Given the description of an element on the screen output the (x, y) to click on. 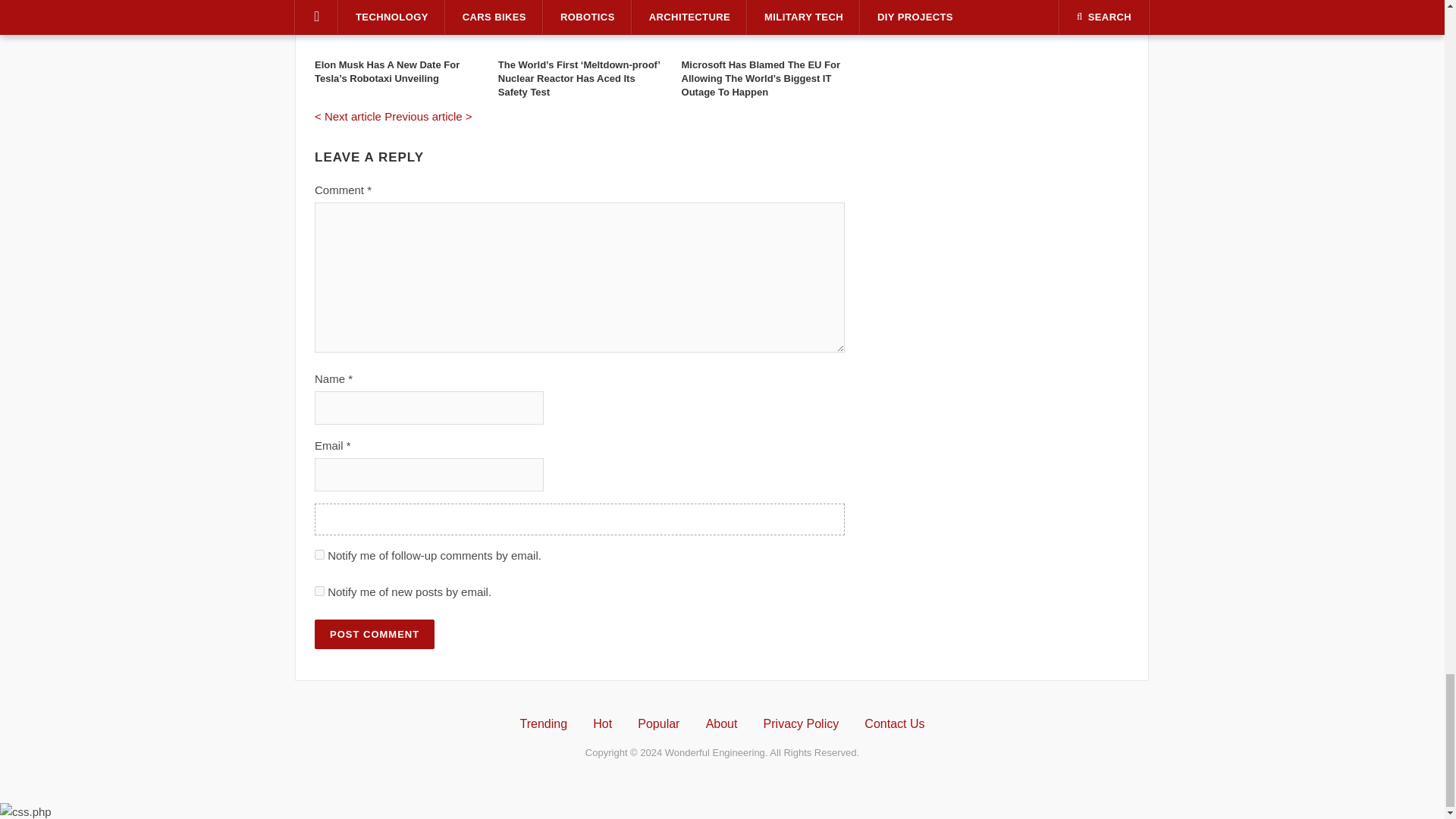
subscribe (319, 591)
subscribe (319, 554)
Post Comment (373, 634)
